Given the description of an element on the screen output the (x, y) to click on. 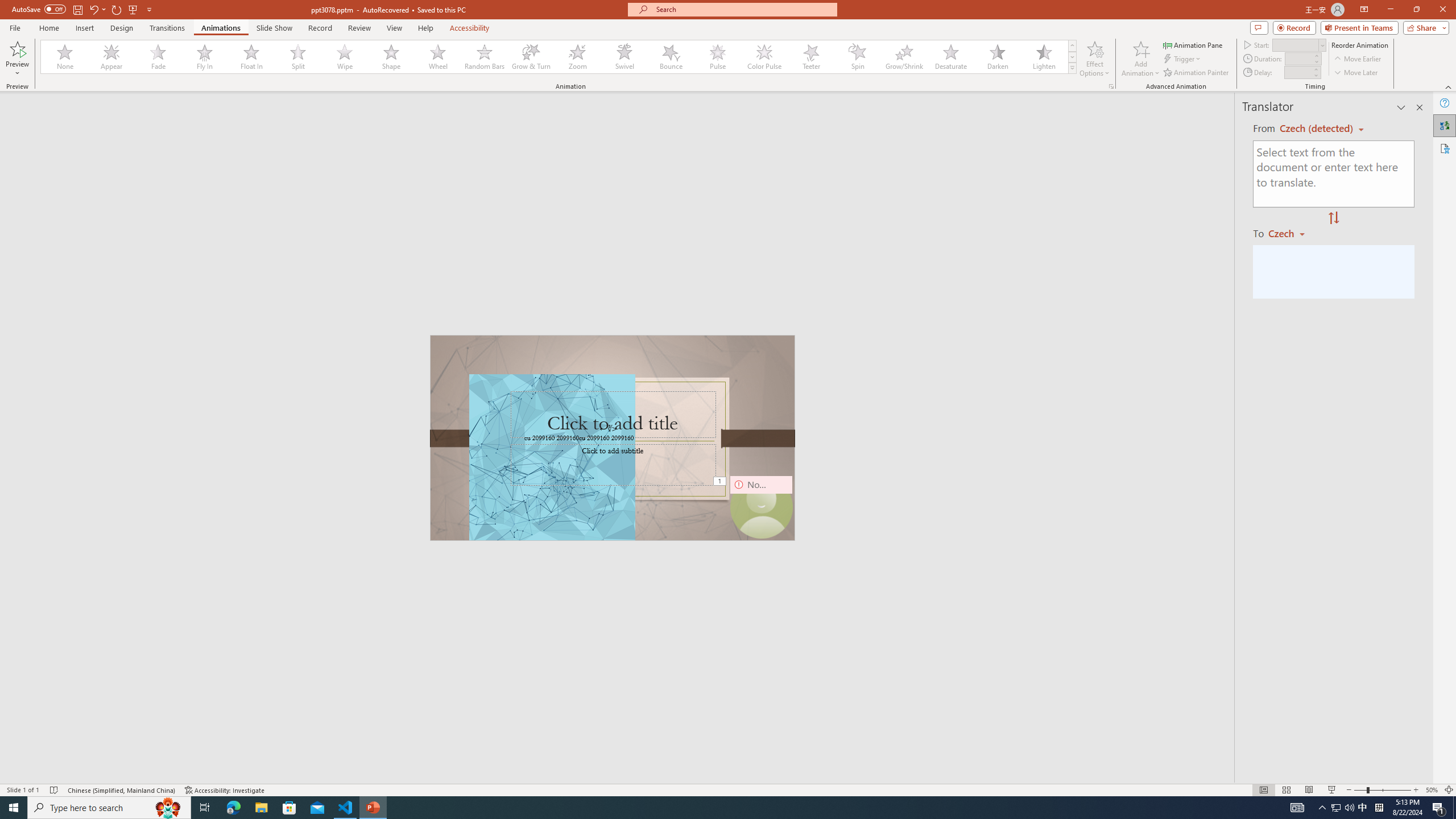
Move Earlier (1357, 58)
Random Bars (484, 56)
Grow/Shrink (903, 56)
Effect Options (1094, 58)
None (65, 56)
Animation Duration (1298, 58)
Swivel (624, 56)
